Given the description of an element on the screen output the (x, y) to click on. 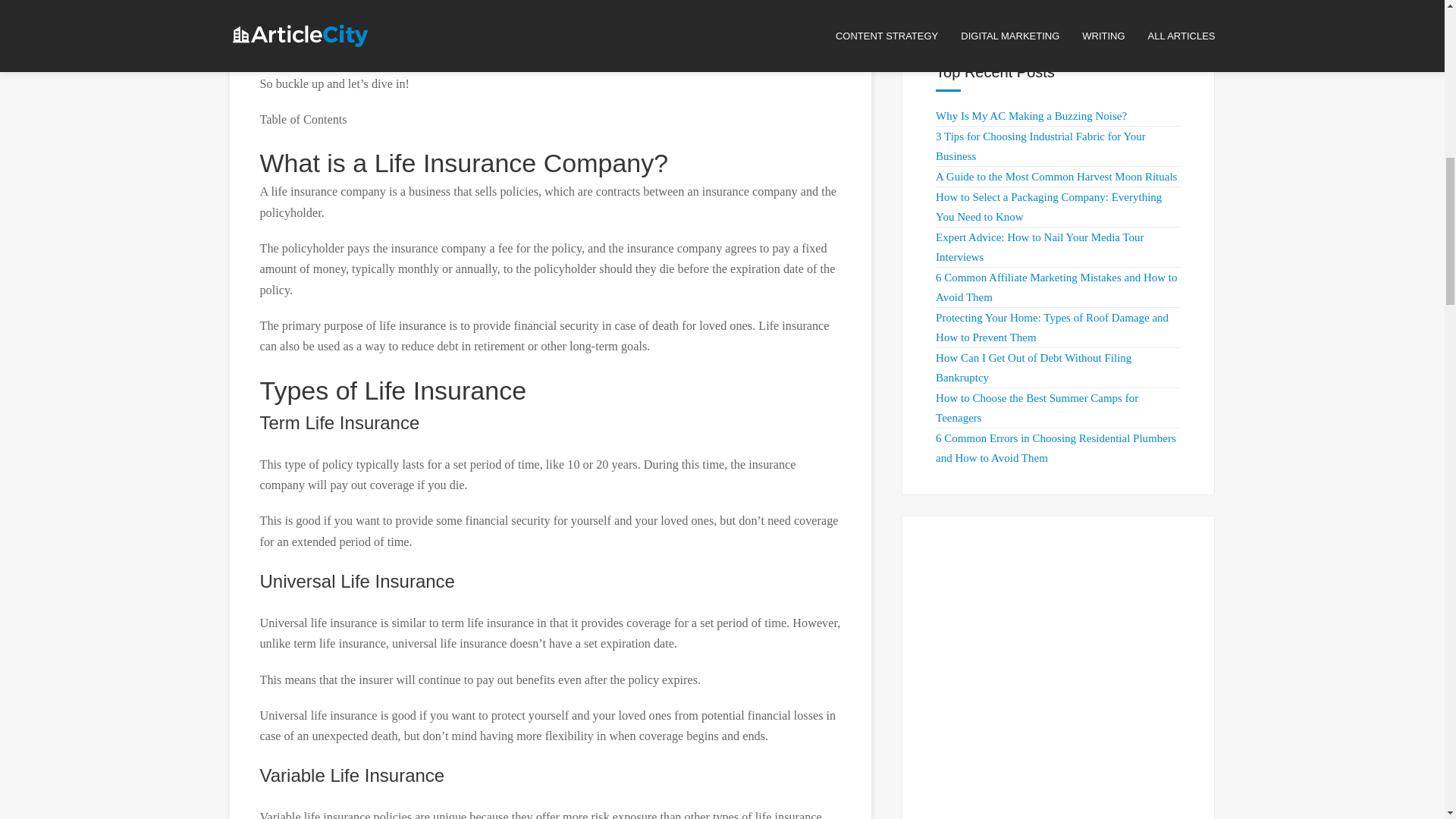
How to Choose the Best Summer Camps for Teenagers (1037, 408)
Expert Advice: How to Nail Your Media Tour Interviews (1039, 246)
6 Common Affiliate Marketing Mistakes and How to Avoid Them (1056, 287)
3 Tips for Choosing Industrial Fabric for Your Business (1040, 146)
Why Is My AC Making a Buzzing Noise? (1031, 115)
A Guide to the Most Common Harvest Moon Rituals (1056, 176)
How Can I Get Out of Debt Without Filing Bankruptcy (1033, 368)
